Given the description of an element on the screen output the (x, y) to click on. 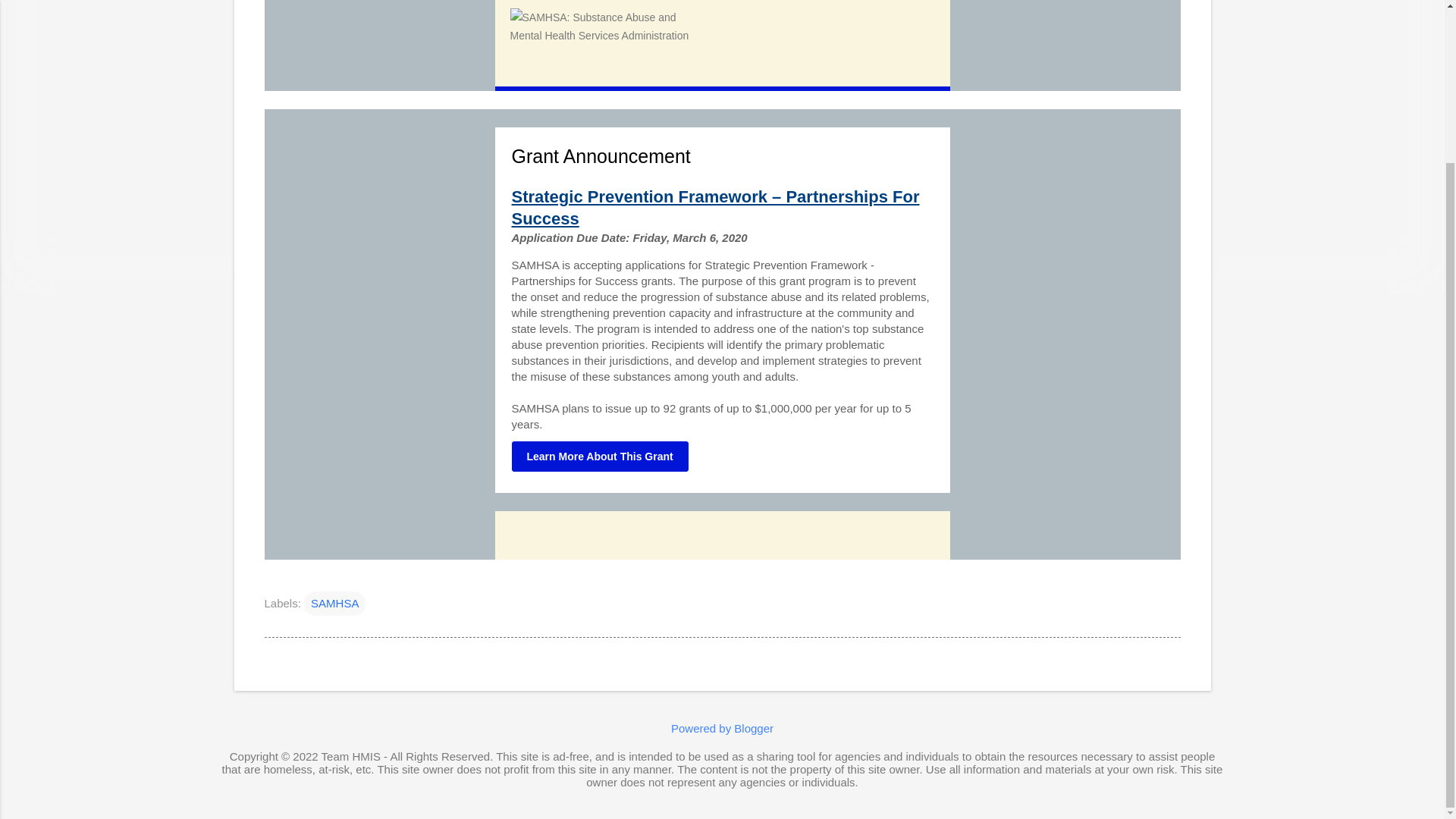
Powered by Blogger (722, 727)
Learn More About This Grant (599, 456)
SAMHSA (334, 603)
